Given the description of an element on the screen output the (x, y) to click on. 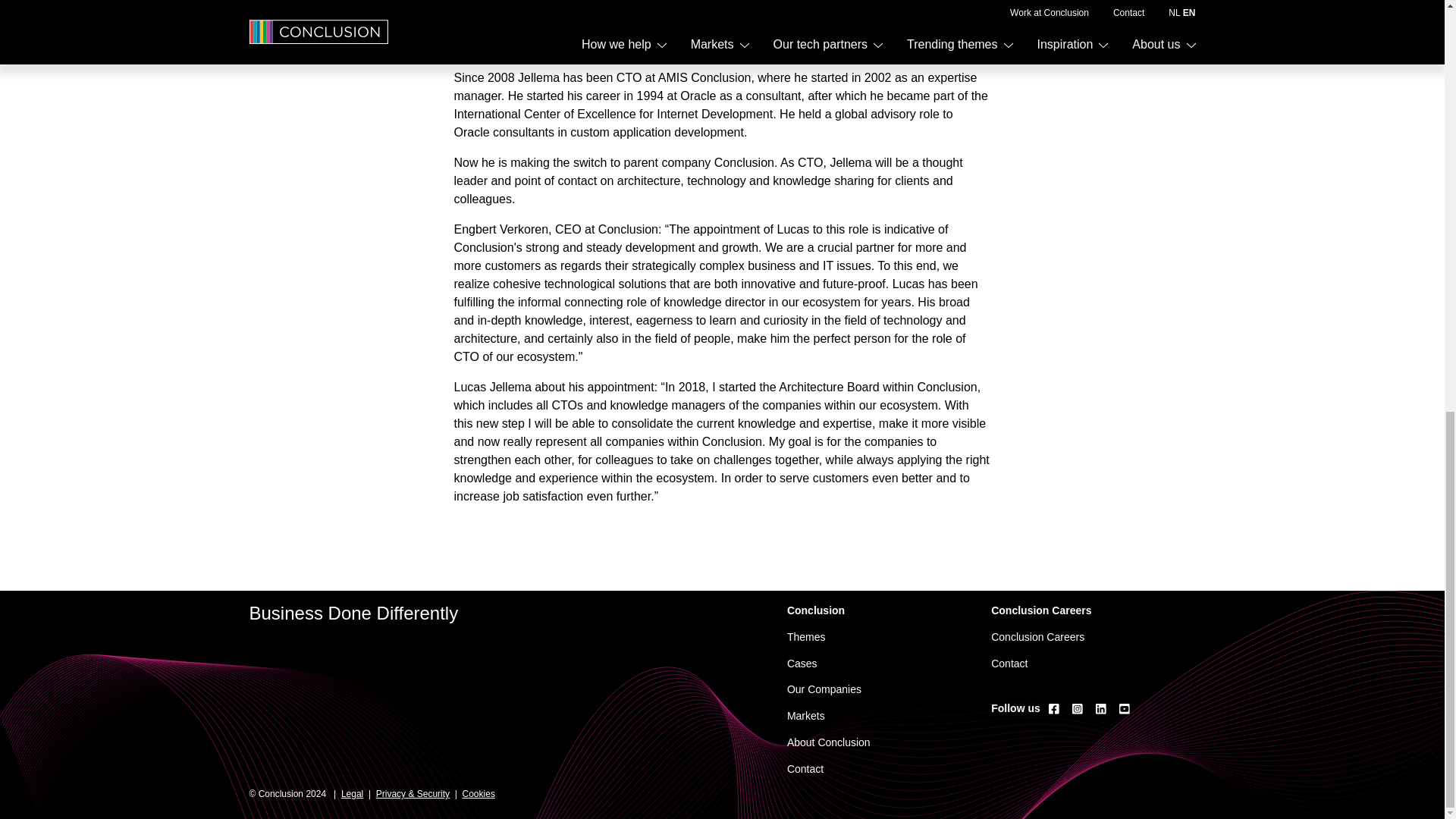
Contact (805, 768)
Cases (801, 663)
Themes (806, 636)
Legal (351, 793)
About Conclusion (828, 742)
LinkedIn (1101, 708)
Markets (806, 715)
Cookies (479, 793)
Instagram (1077, 708)
Facebook (1053, 708)
